Given the description of an element on the screen output the (x, y) to click on. 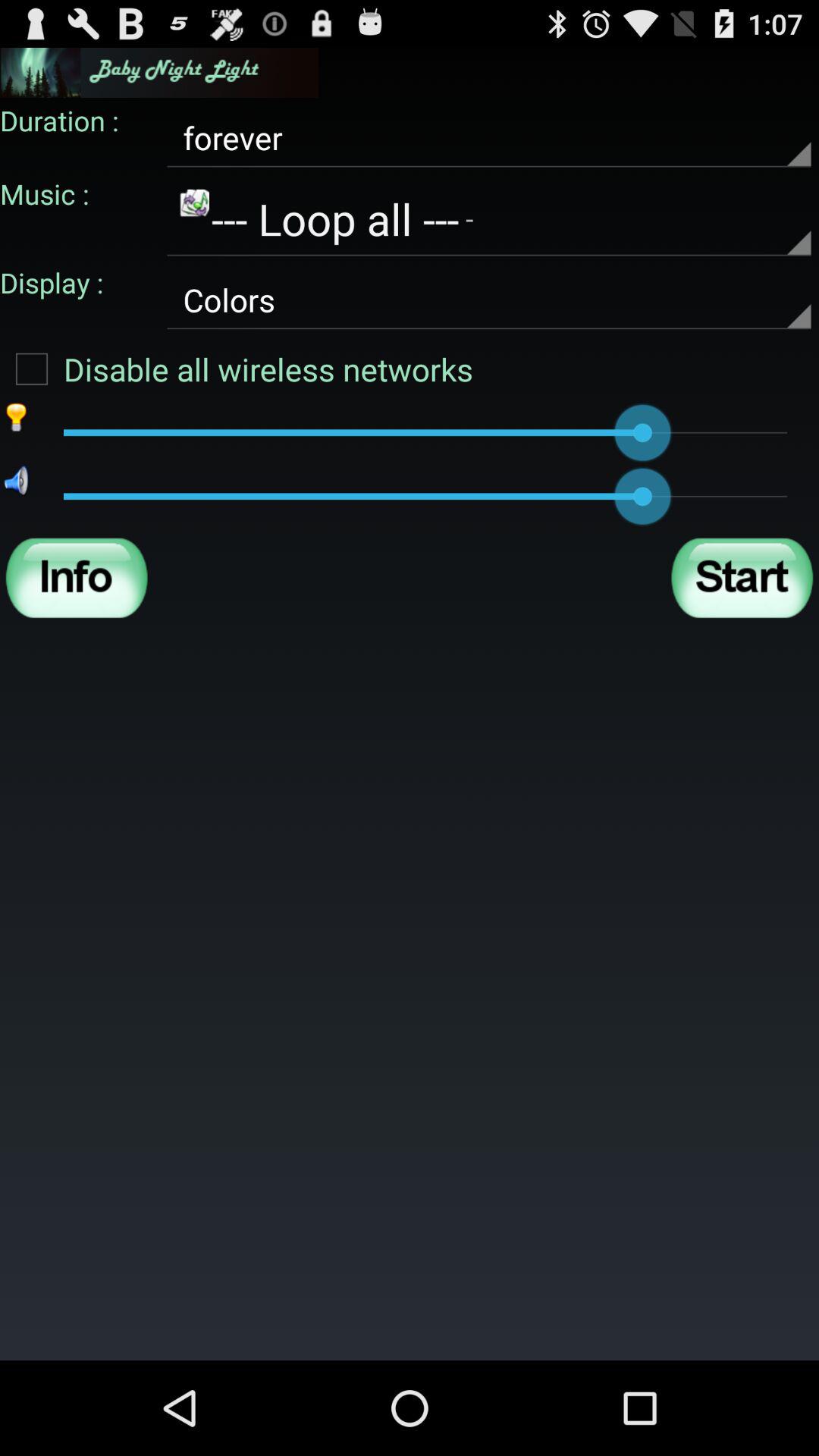
jump to the disable all wireless checkbox (236, 368)
